Given the description of an element on the screen output the (x, y) to click on. 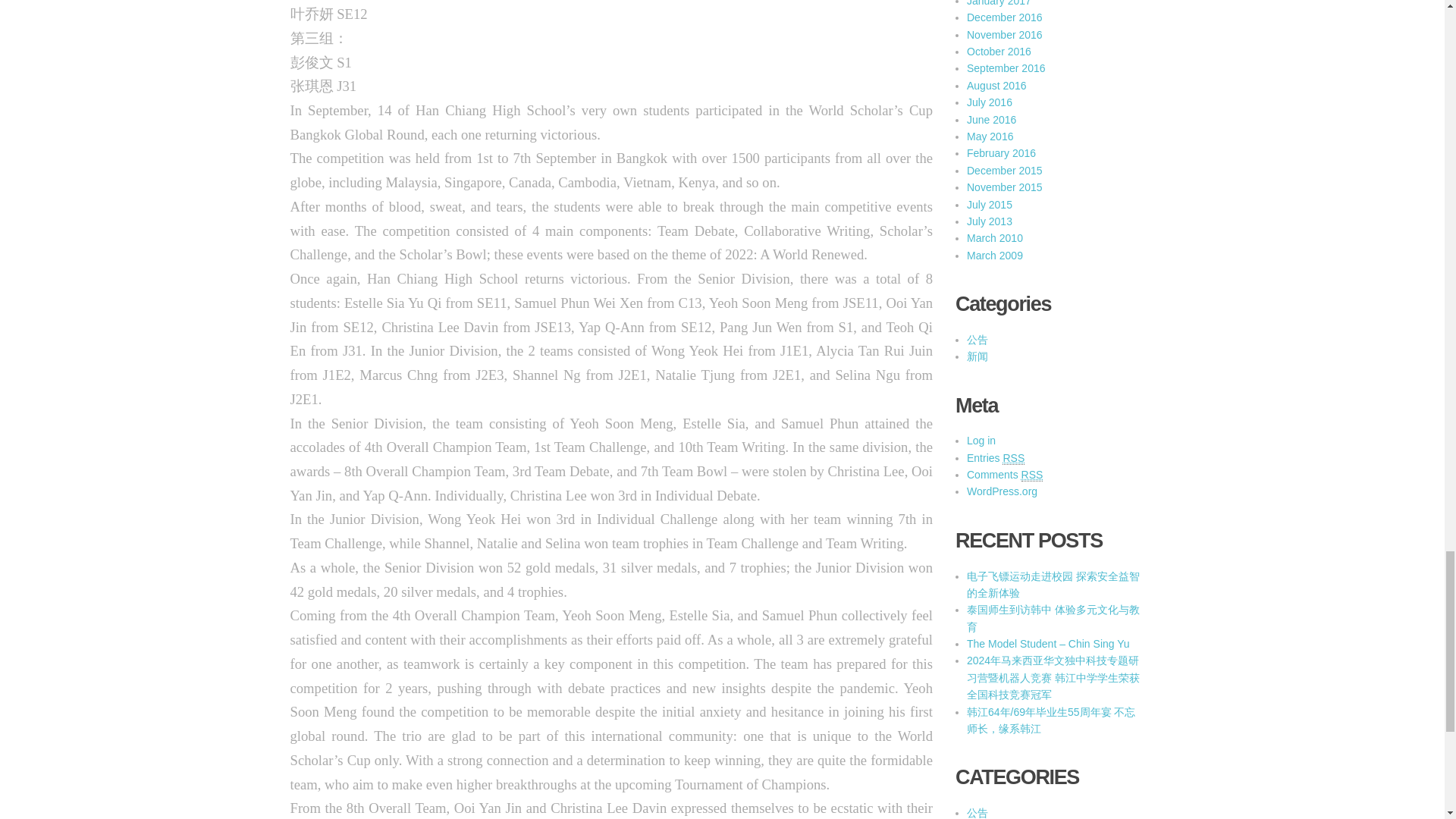
Really Simple Syndication (1014, 458)
Really Simple Syndication (1032, 474)
